Given the description of an element on the screen output the (x, y) to click on. 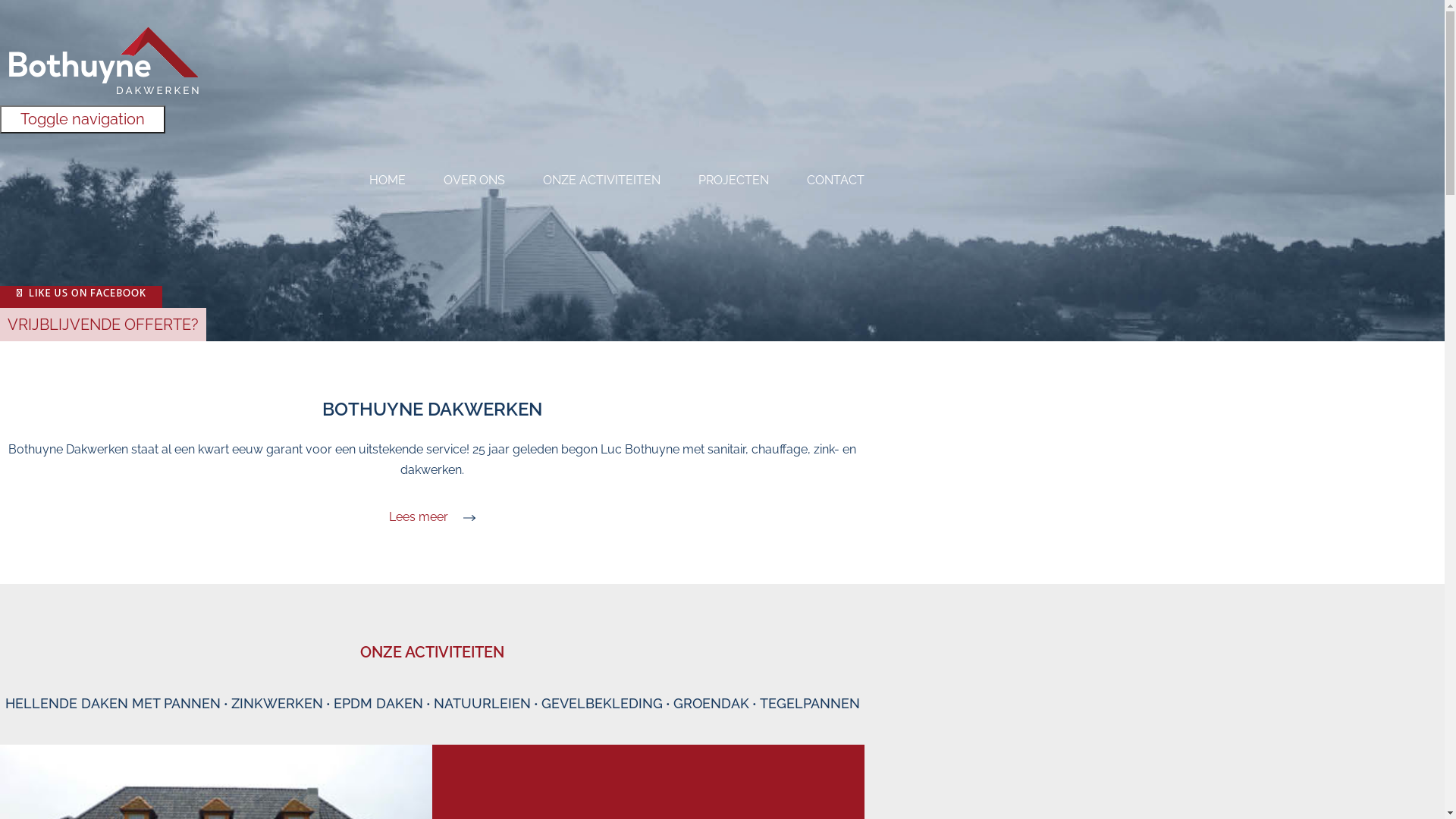
HOME Element type: text (387, 179)
GROENDAK Element type: text (711, 703)
HELLENDE DAKEN MET PANNEN Element type: text (111, 703)
VRIJBLIJVENDE OFFERTE? Element type: text (103, 324)
Lees meer Element type: text (432, 516)
ONZE ACTIVITEITEN Element type: text (601, 179)
GEVELBEKLEDING Element type: text (601, 703)
CONTACT Element type: text (835, 179)
ZINKWERKEN Element type: text (276, 703)
PROJECTEN Element type: text (733, 179)
Toggle navigation Element type: text (82, 119)
OVER ONS Element type: text (474, 179)
EPDM DAKEN Element type: text (378, 703)
TEGELPANNEN Element type: text (809, 703)
NATUURLEIEN Element type: text (481, 703)
